Given the description of an element on the screen output the (x, y) to click on. 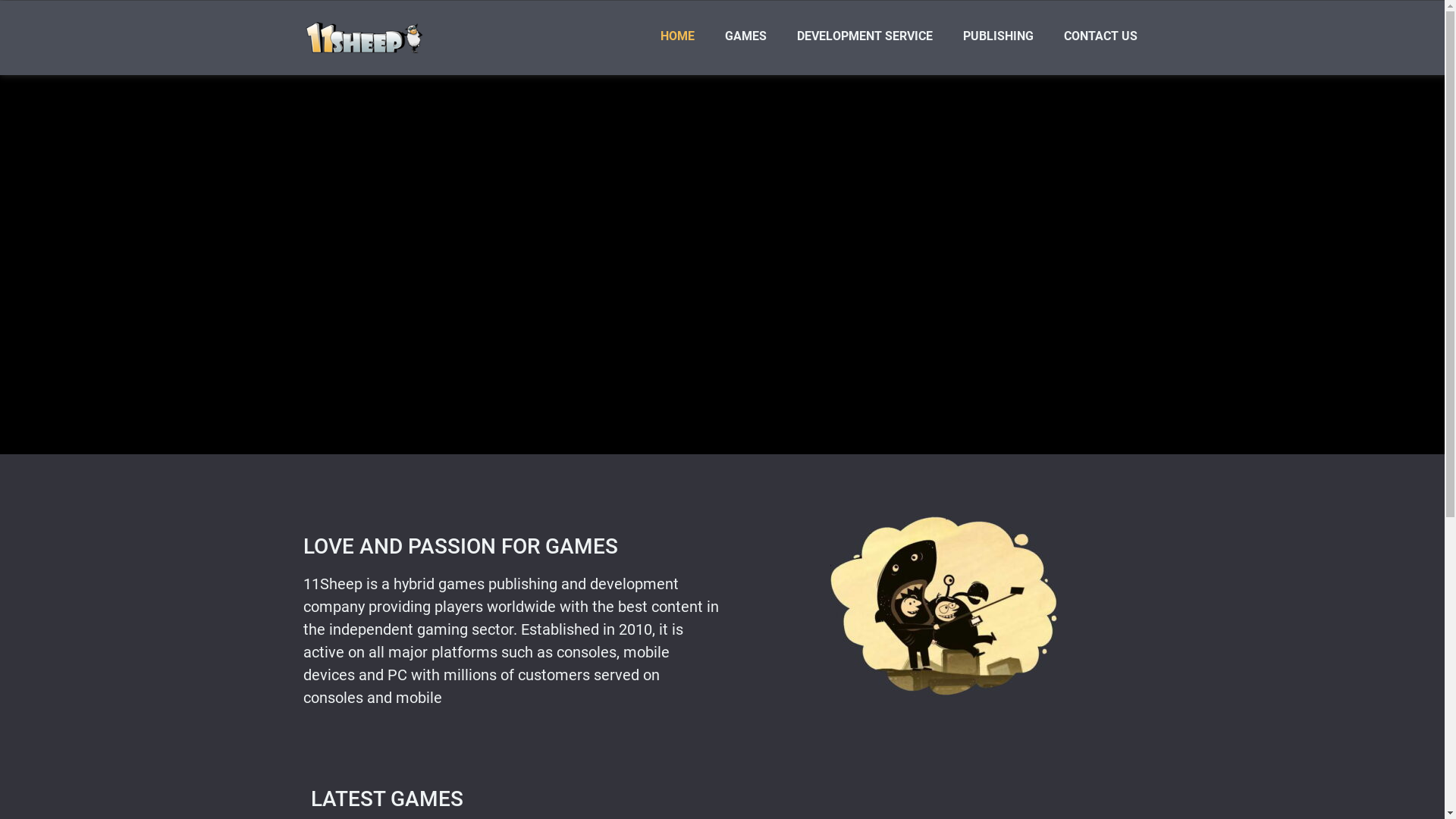
PUBLISHING Element type: text (997, 35)
HOME Element type: text (677, 35)
DEVELOPMENT SERVICE Element type: text (864, 35)
CONTACT US Element type: text (1100, 35)
GAMES Element type: text (745, 35)
